Given the description of an element on the screen output the (x, y) to click on. 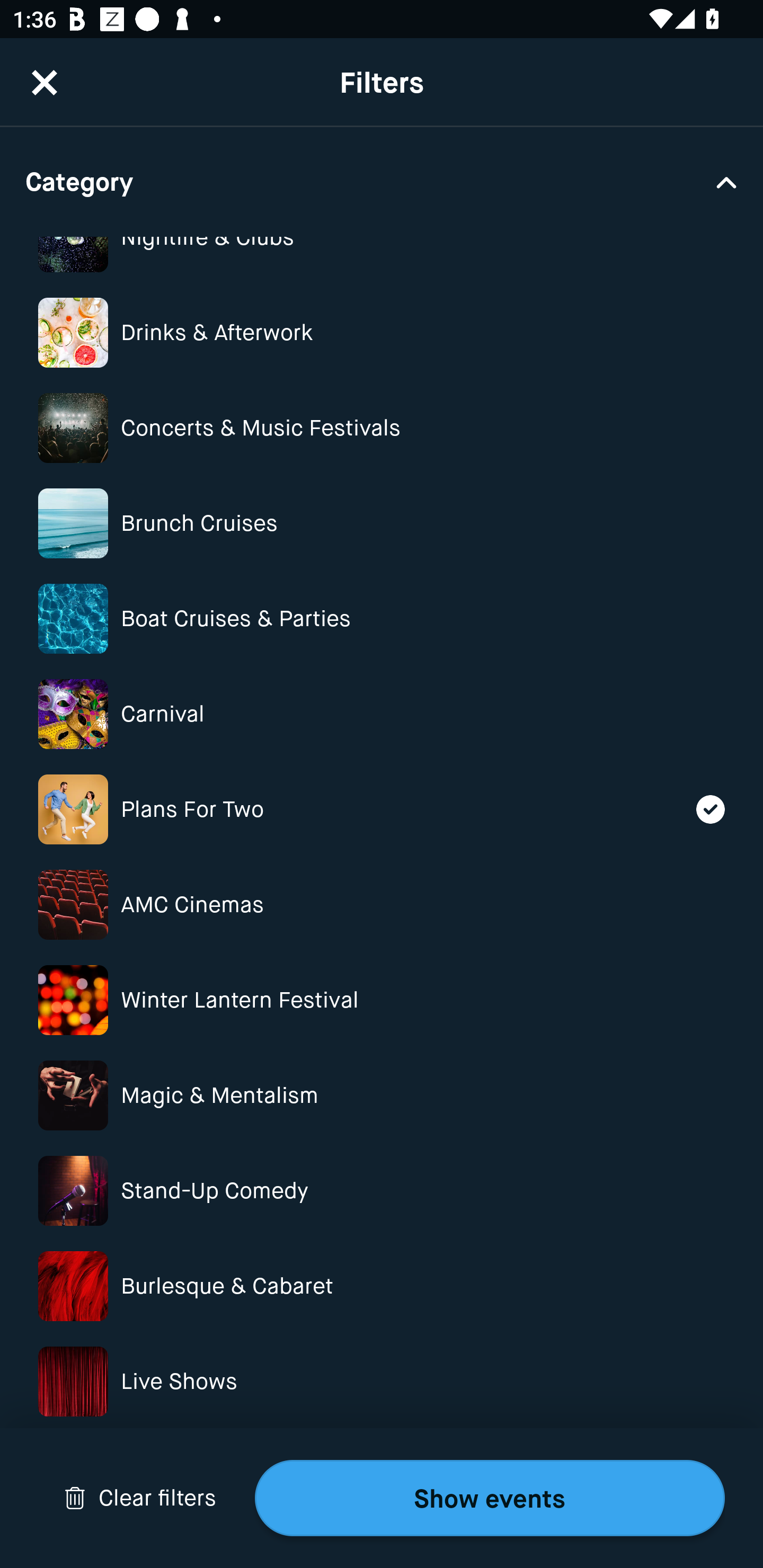
CloseButton (44, 70)
Category Drop Down Arrow (381, 181)
Category Image Drinks & Afterwork (381, 332)
Category Image Concerts & Music Festivals (381, 427)
Category Image Brunch Cruises (381, 522)
Category Image Boat Cruises & Parties (381, 618)
Category Image Carnival (381, 713)
Category Image Plans For Two Selected Icon (381, 809)
Category Image AMC Cinemas (381, 904)
Category Image Winter Lantern Festival (381, 1000)
Category Image Magic & Mentalism (381, 1094)
Category Image Stand-Up Comedy (381, 1190)
Category Image Burlesque & Cabaret (381, 1286)
Category Image Live Shows (381, 1381)
Drop Down Arrow Clear filters (139, 1497)
Show events (489, 1497)
